Given the description of an element on the screen output the (x, y) to click on. 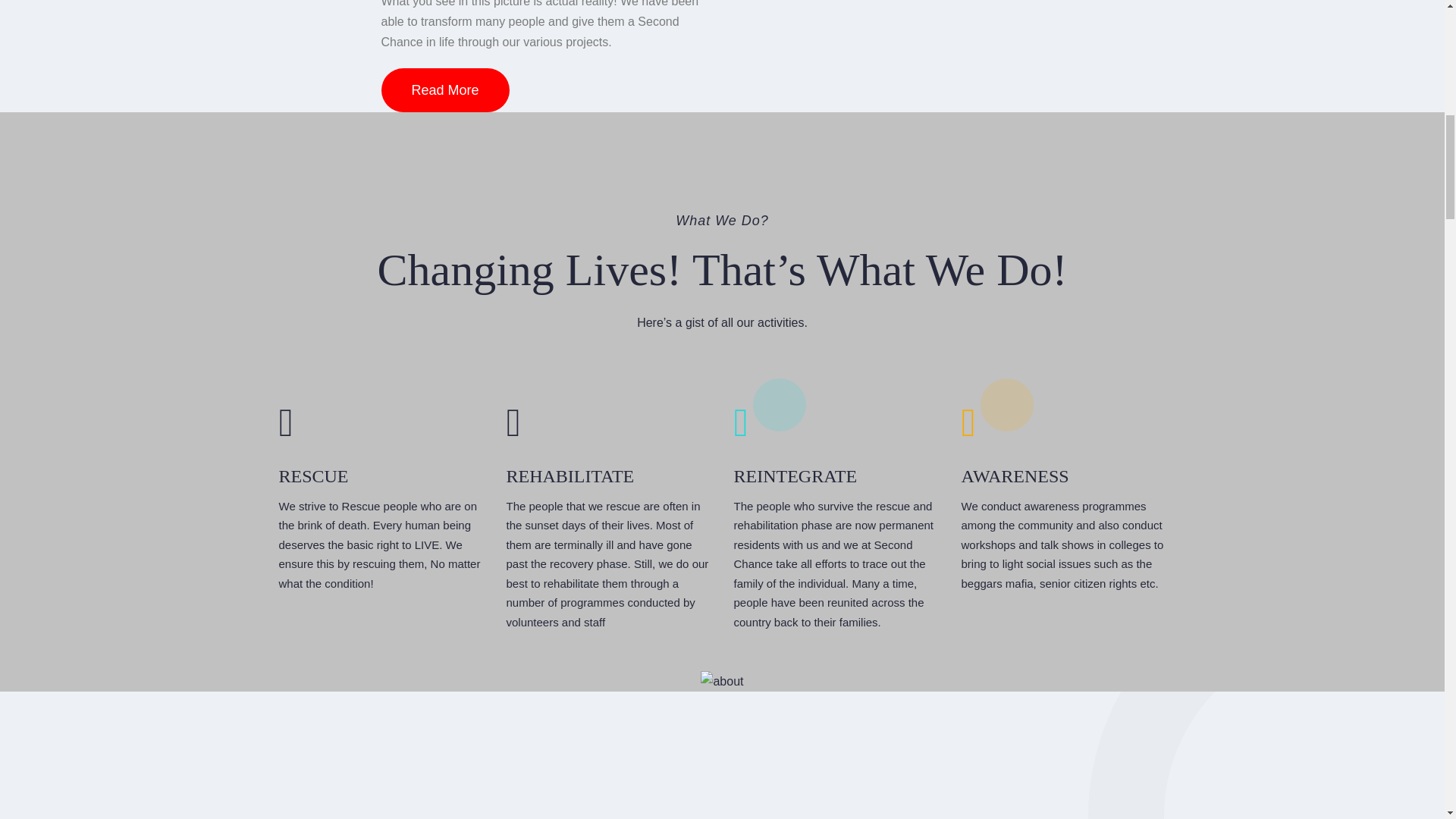
Read More (444, 89)
